Given the description of an element on the screen output the (x, y) to click on. 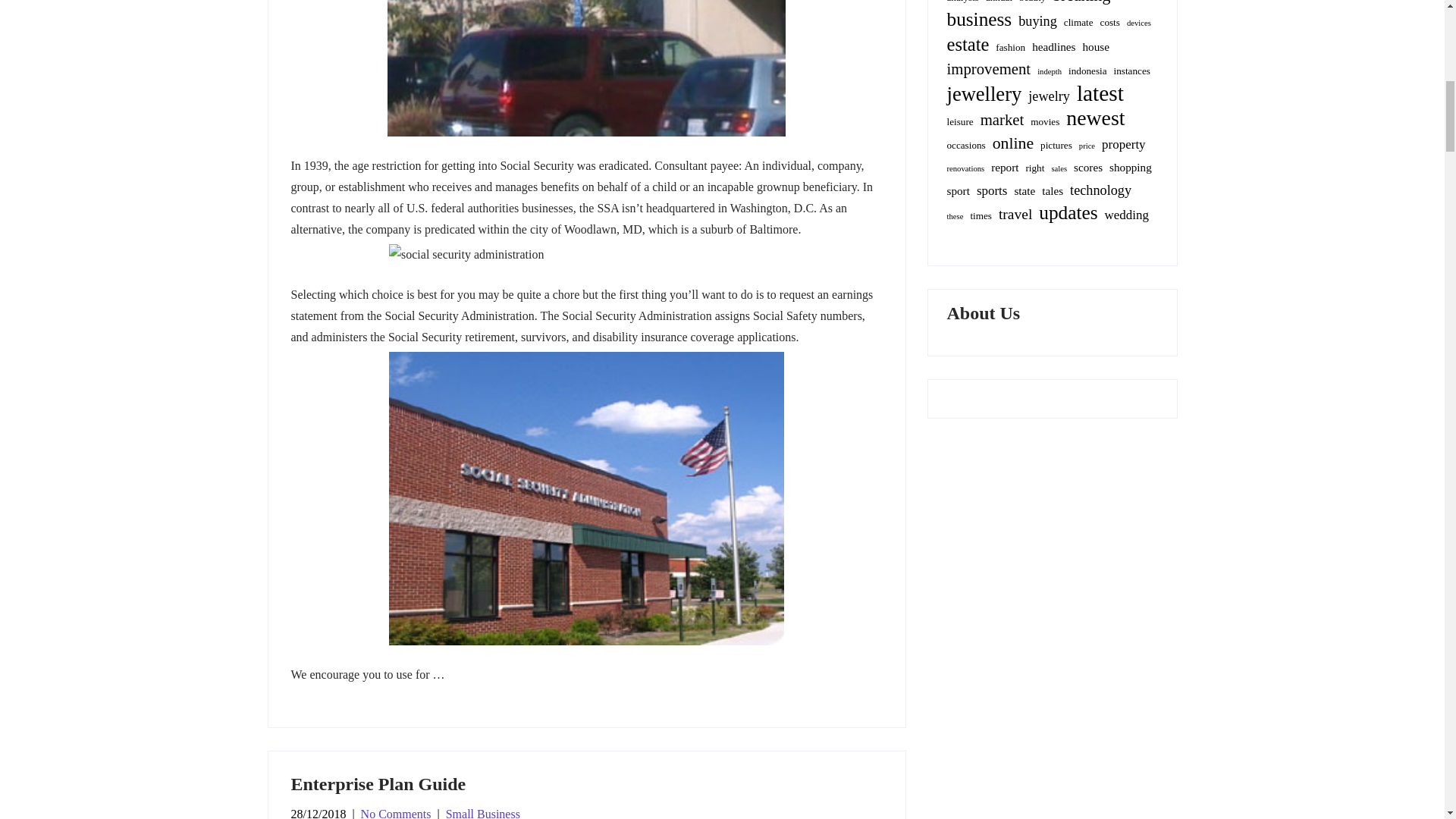
Small Business (482, 813)
No Comments (395, 813)
Enterprise Plan Guide (378, 783)
